Given the description of an element on the screen output the (x, y) to click on. 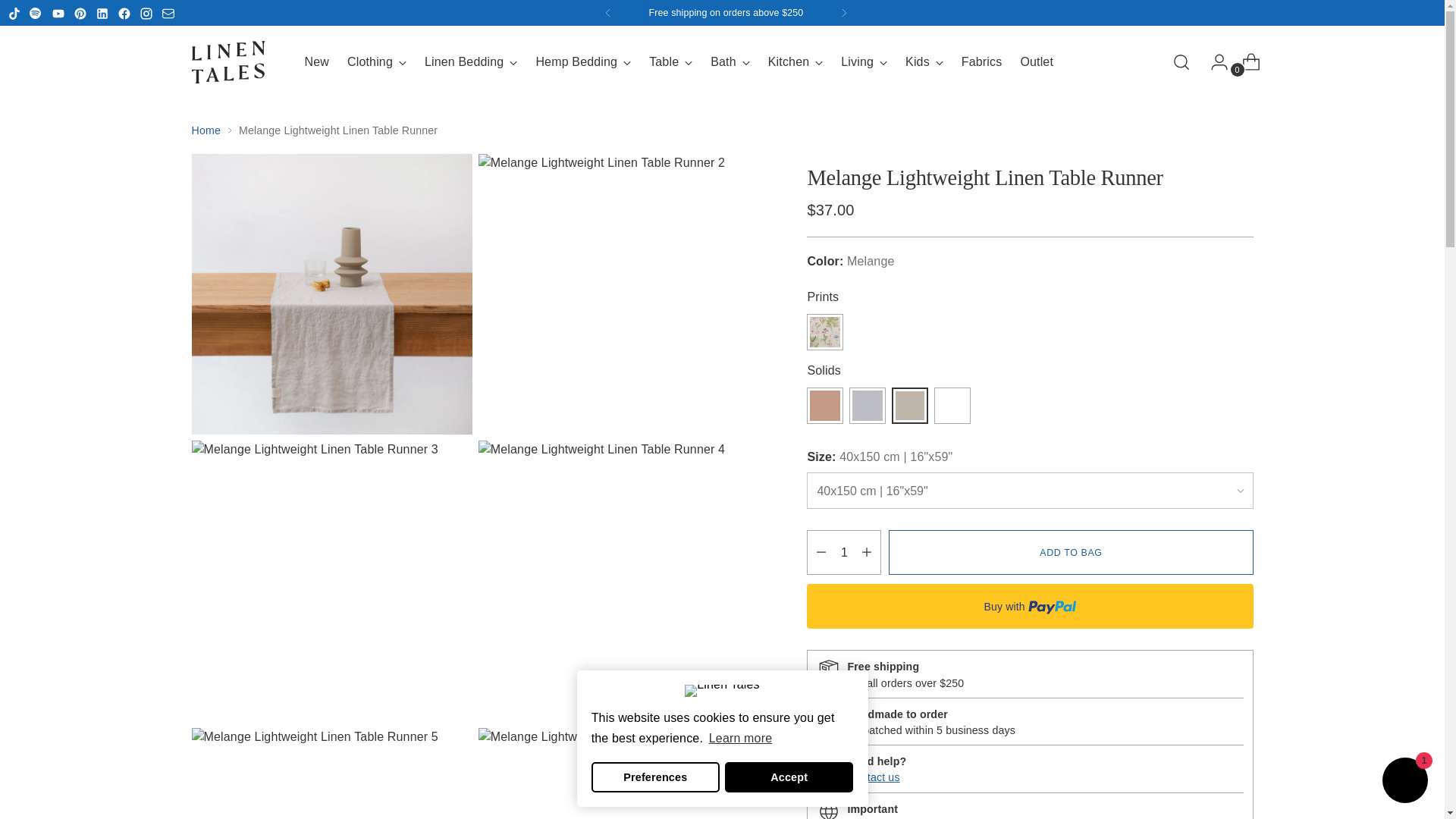
Quality linen bedding, tablecloths, kitchen towels. (236, 61)
Accept (789, 777)
Learn more (740, 738)
Next (843, 12)
Clothing (376, 61)
Clothing (376, 61)
Preferences (655, 777)
Previous (607, 12)
